Given the description of an element on the screen output the (x, y) to click on. 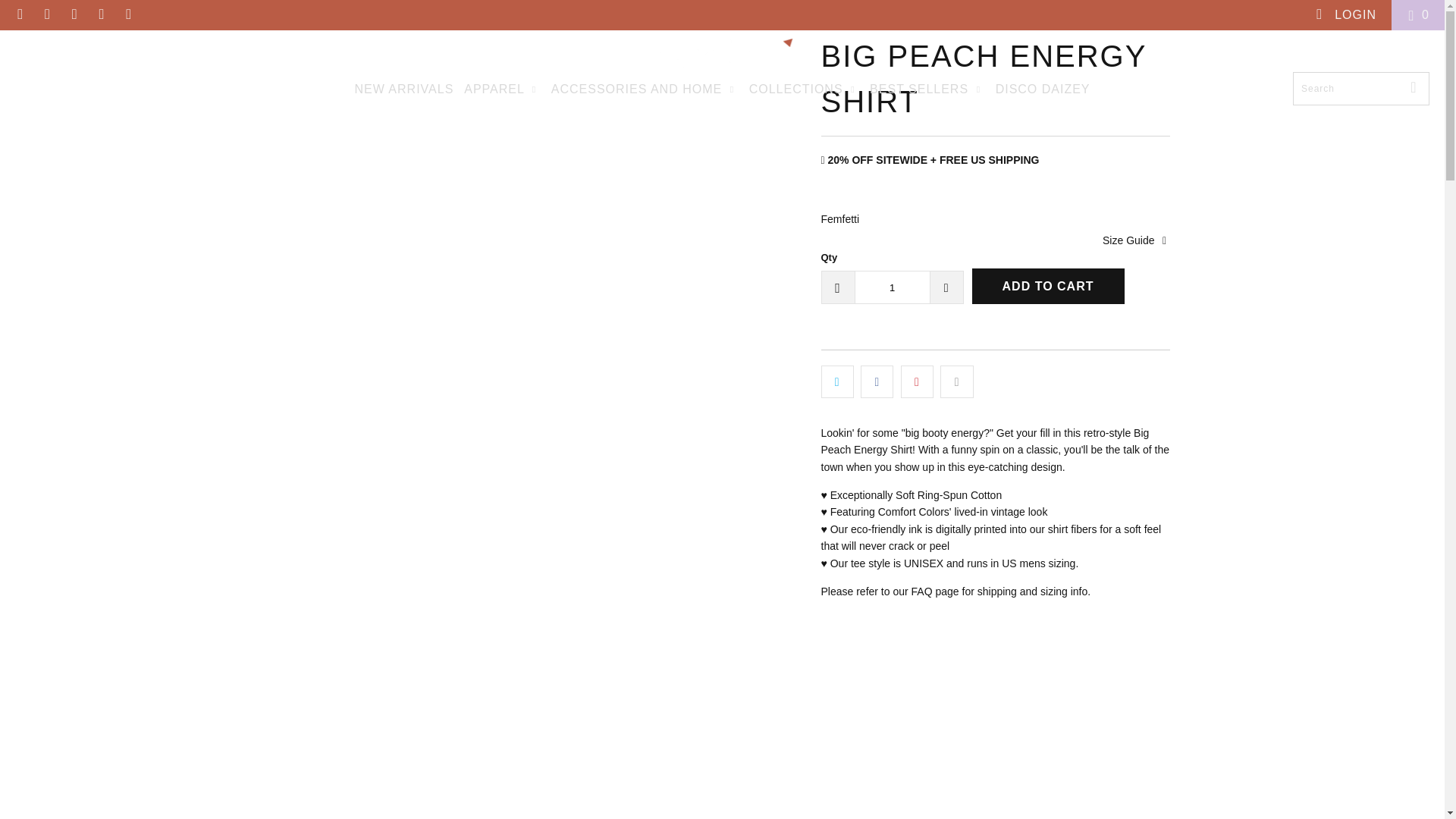
Femfetti (722, 54)
Femfetti on Twitter (19, 14)
Femfetti on Facebook (47, 14)
Share this on Facebook (876, 381)
Share this on Pinterest (917, 381)
1 (891, 287)
Femfetti on Instagram (101, 14)
My Account  (1345, 15)
Email this to a friend (956, 381)
Email Femfetti (127, 14)
